Given the description of an element on the screen output the (x, y) to click on. 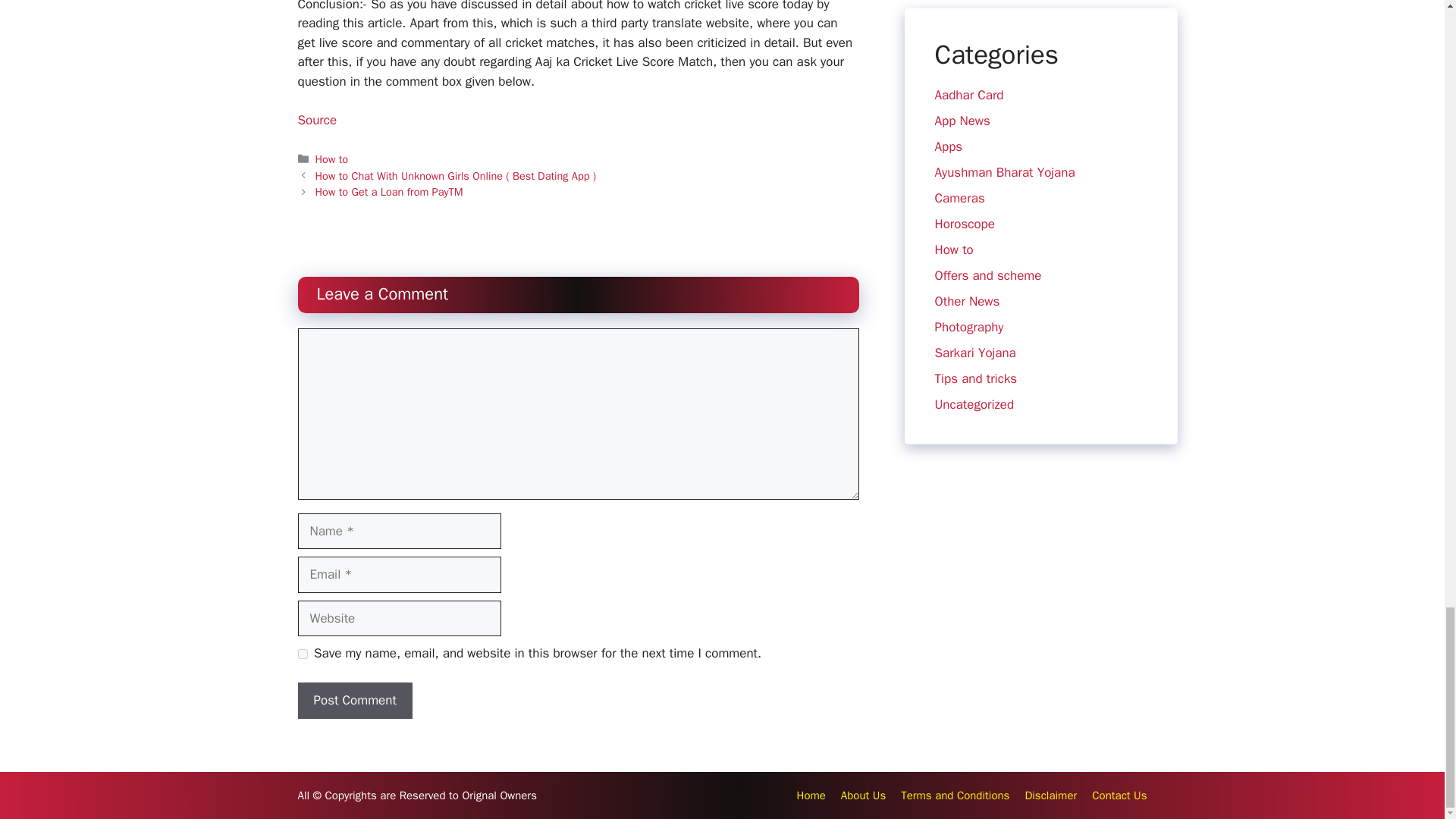
Disclaimer (1051, 795)
Post Comment (354, 700)
Source (316, 119)
Contact Us (1119, 795)
Home (810, 795)
yes (302, 654)
How to (332, 159)
Post Comment (354, 700)
Terms and Conditions (955, 795)
How to Get a Loan from PayTM (389, 192)
About Us (863, 795)
